Given the description of an element on the screen output the (x, y) to click on. 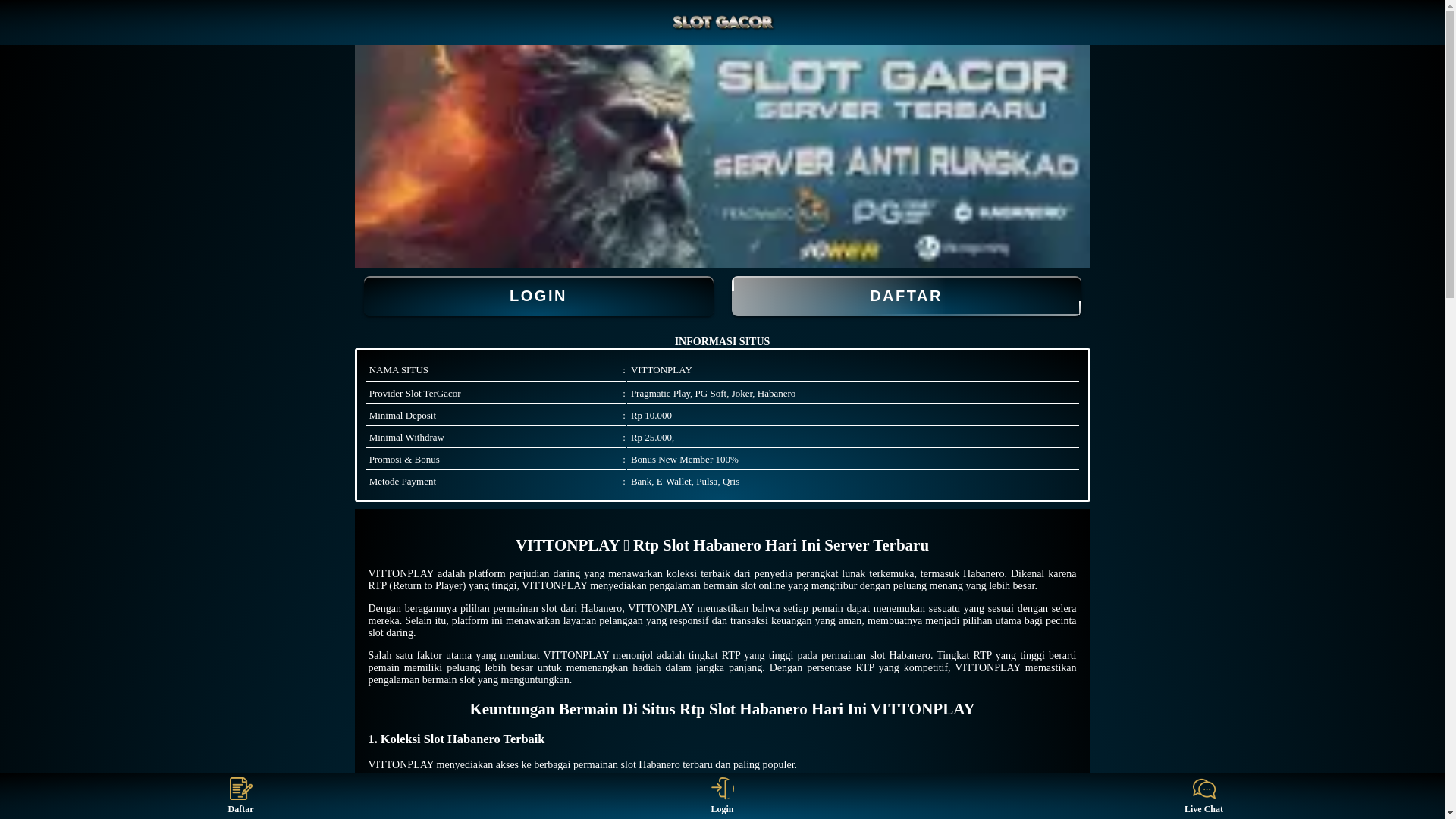
LOGIN Element type: text (538, 296)
DAFTAR Element type: text (905, 296)
Daftar Element type: text (240, 796)
Login Element type: text (721, 796)
Live Chat Element type: text (1203, 796)
